Given the description of an element on the screen output the (x, y) to click on. 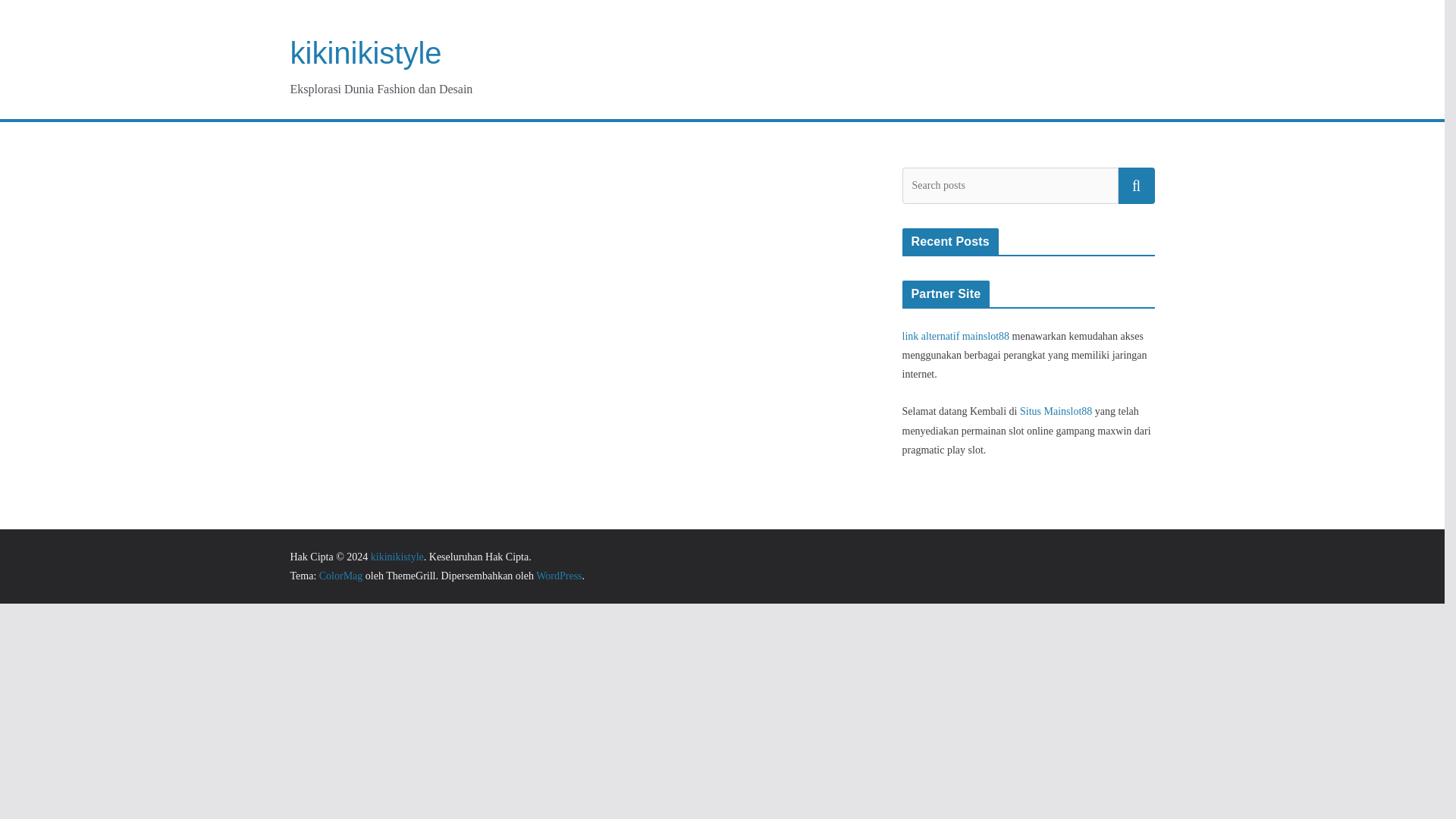
ColorMag (340, 575)
kikinikistyle (397, 556)
kikinikistyle (365, 52)
kikinikistyle (397, 556)
Cari (1136, 185)
link alternatif mainslot88 (956, 336)
WordPress (557, 575)
Situs Mainslot88 (1056, 410)
kikinikistyle (365, 52)
WordPress (557, 575)
ColorMag (340, 575)
